Given the description of an element on the screen output the (x, y) to click on. 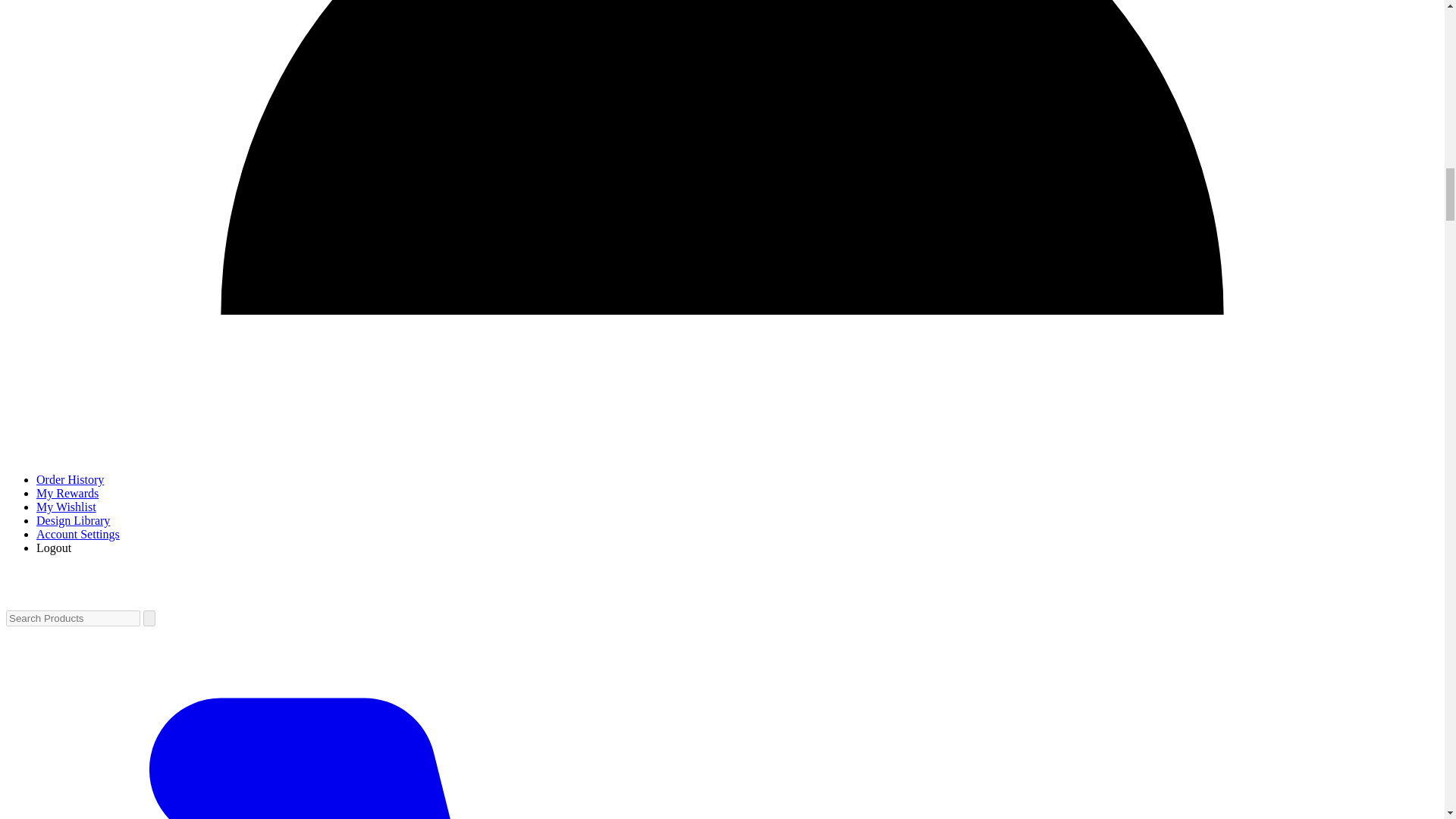
Design Library (73, 520)
My Wishlist (66, 506)
Account Settings (77, 533)
MatterHackers (81, 597)
My Rewards (67, 492)
Order History (69, 479)
